Given the description of an element on the screen output the (x, y) to click on. 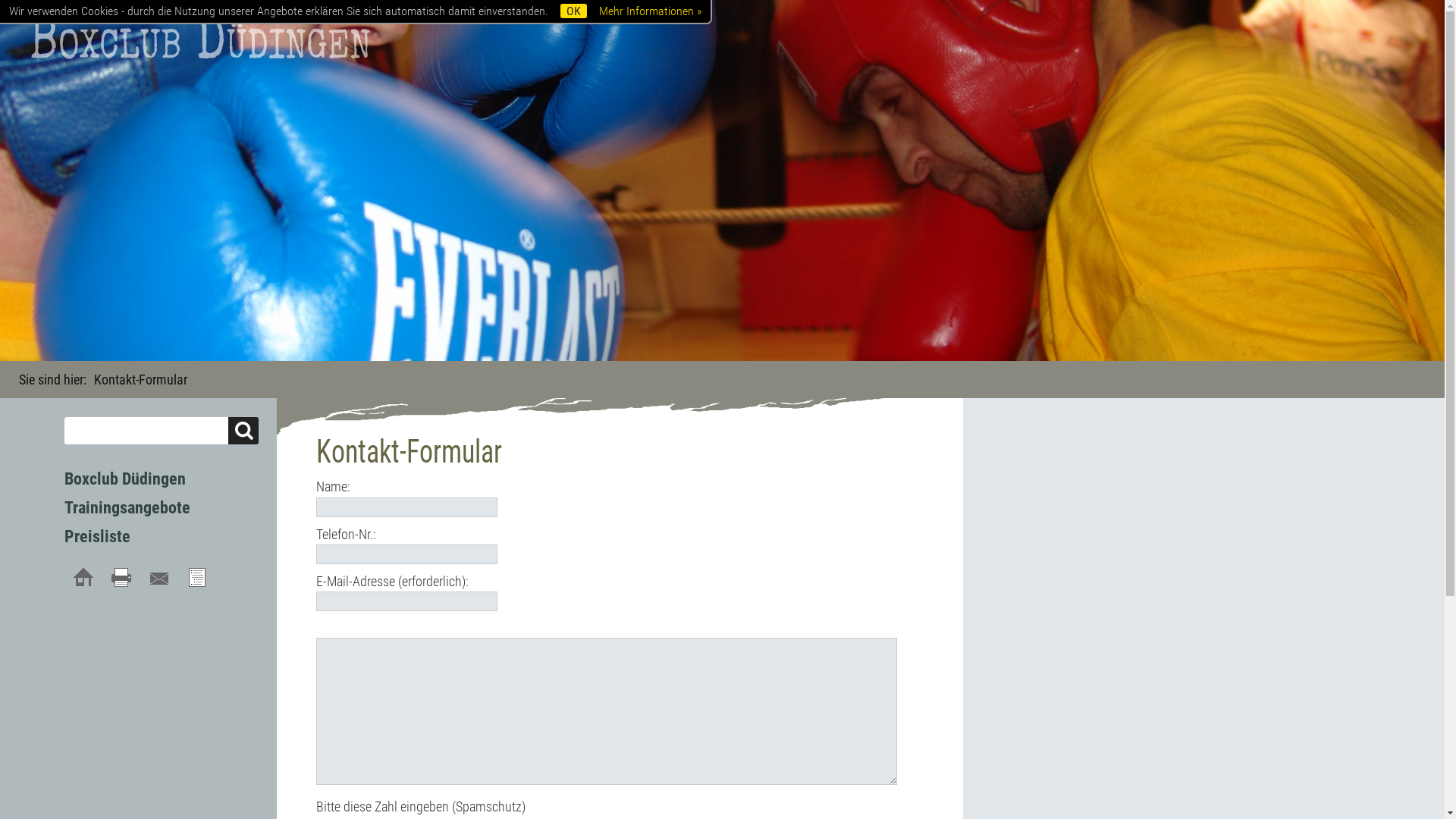
Trainingsangebote Element type: text (127, 507)
Preisliste Element type: text (97, 536)
Kontakt-Formular Element type: hover (158, 577)
Druckansicht Element type: hover (120, 577)
Startseite Element type: hover (83, 577)
Inhaltsverzeichnis Element type: hover (196, 577)
